Given the description of an element on the screen output the (x, y) to click on. 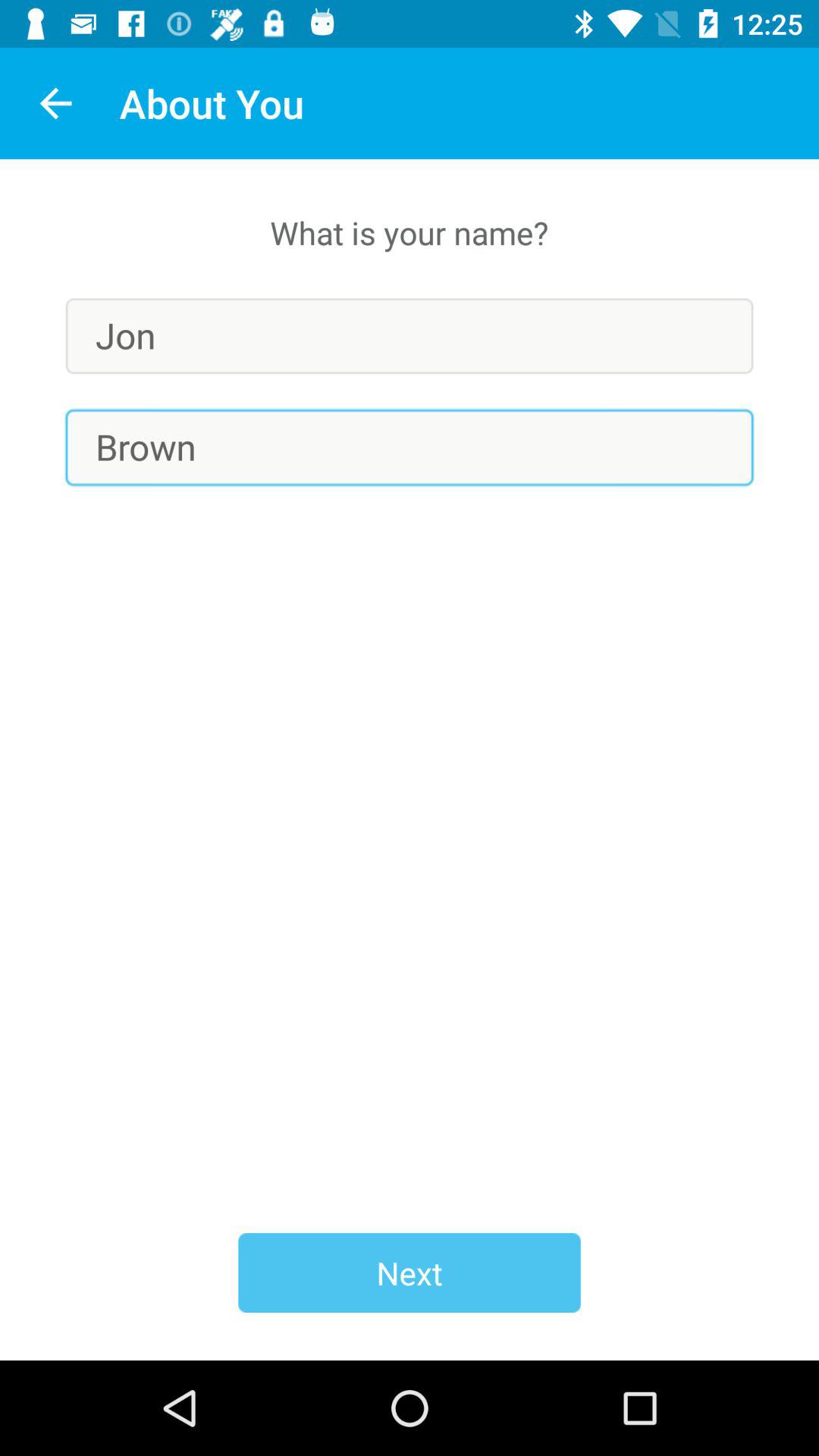
press item below jon (409, 447)
